Given the description of an element on the screen output the (x, y) to click on. 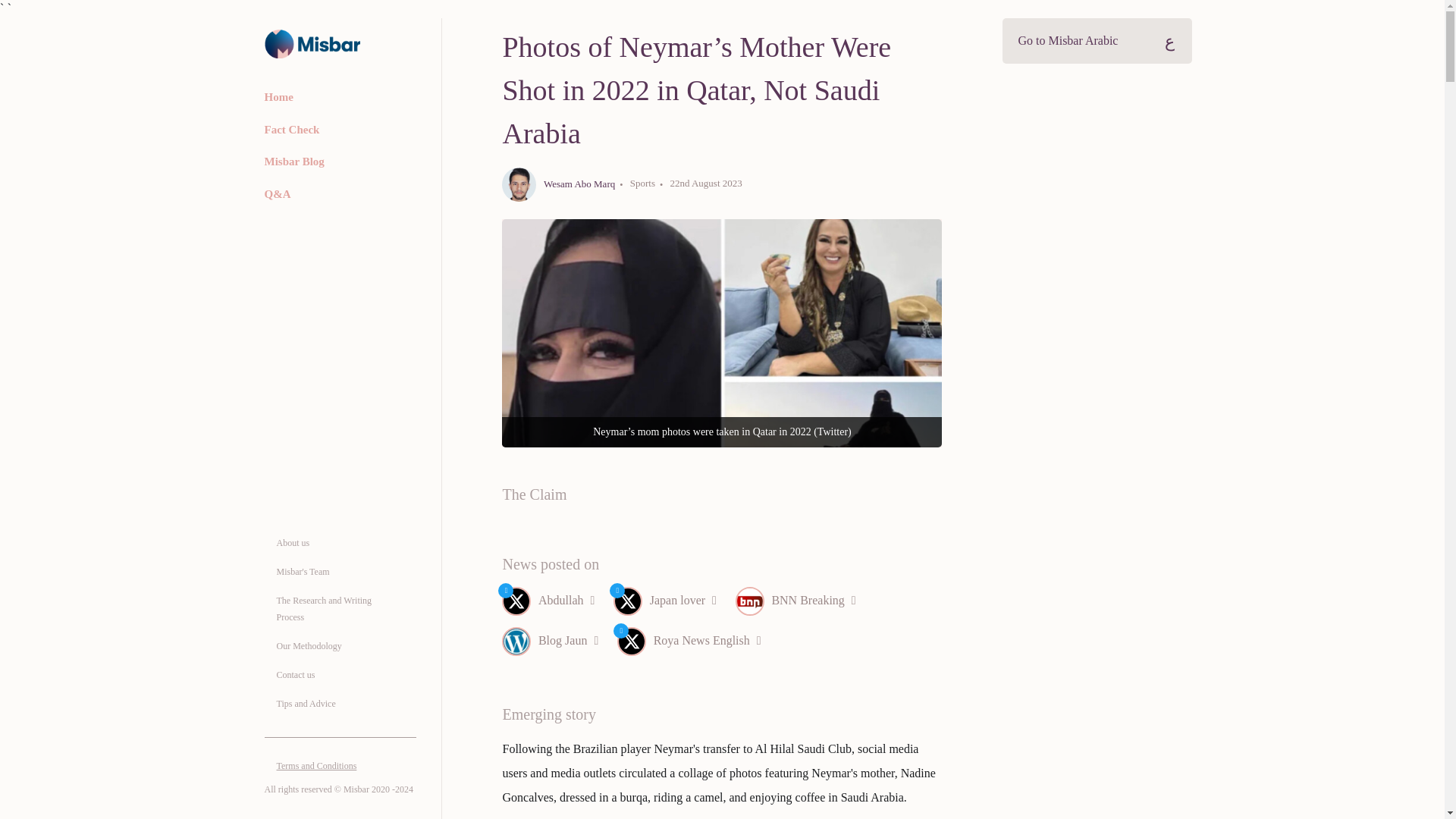
Roya News English (697, 647)
Wesam Abo Marq (558, 183)
Home (280, 94)
Misbar Blog (296, 158)
Blog Jaun (559, 647)
Japan lover (673, 607)
The Research and Writing Process (333, 608)
Tips and Advice (305, 703)
BNN Breaking (805, 607)
Sports (634, 183)
